Given the description of an element on the screen output the (x, y) to click on. 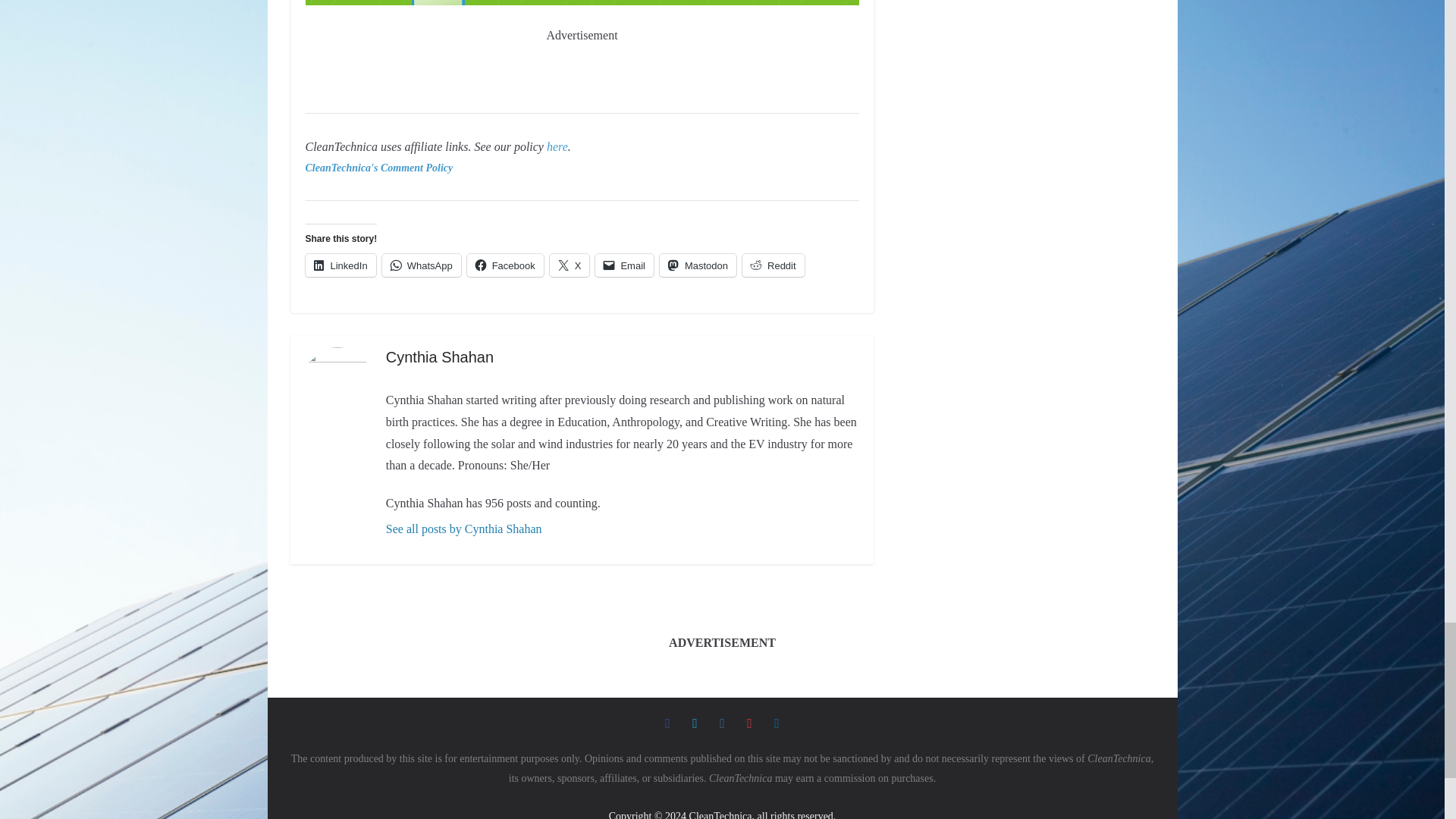
Click to share on WhatsApp (421, 264)
Click to share on LinkedIn (339, 264)
Click to share on Facebook (505, 264)
